Given the description of an element on the screen output the (x, y) to click on. 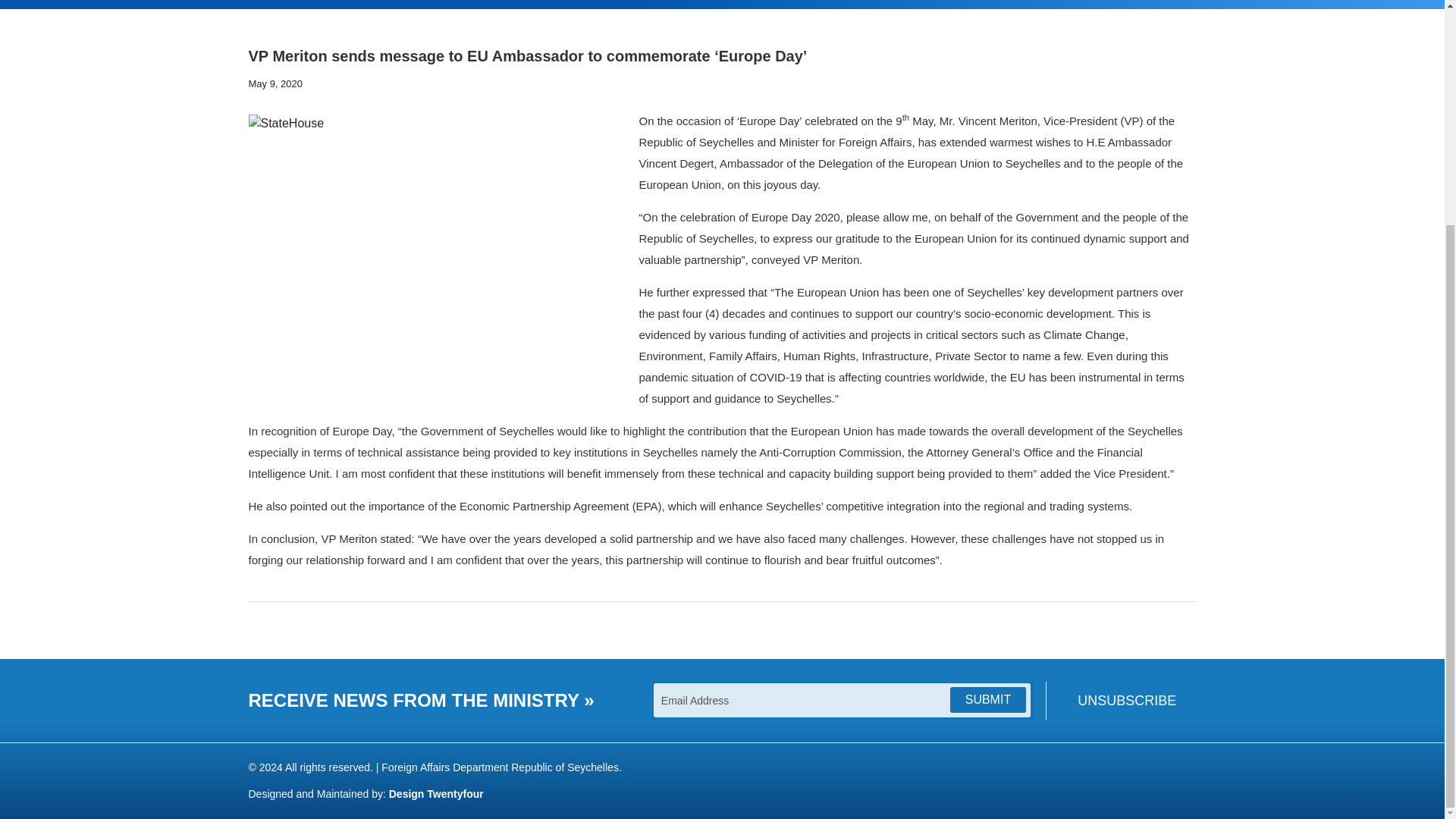
SUBMIT (987, 700)
img1 (437, 255)
